Given the description of an element on the screen output the (x, y) to click on. 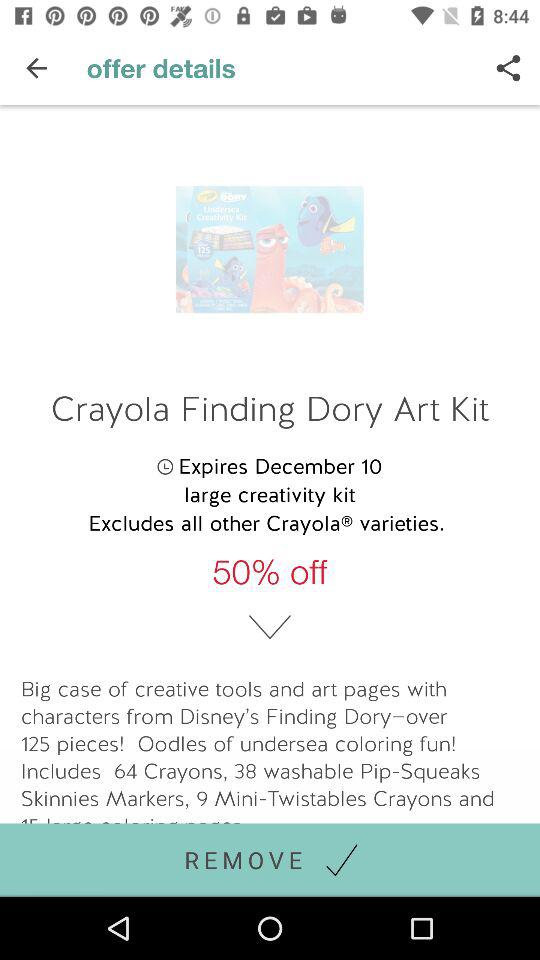
choose item at the top right corner (508, 67)
